Given the description of an element on the screen output the (x, y) to click on. 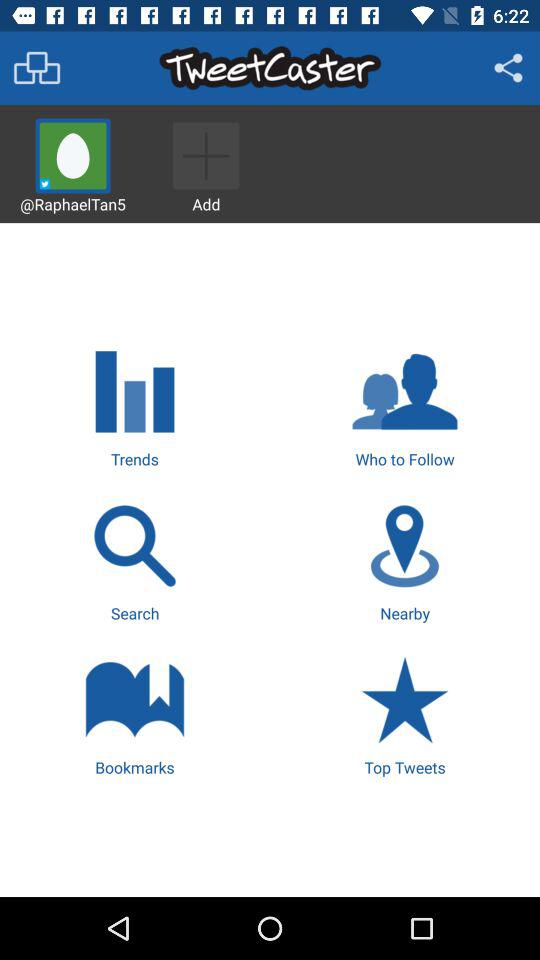
open the item next to bookmarks icon (404, 714)
